Given the description of an element on the screen output the (x, y) to click on. 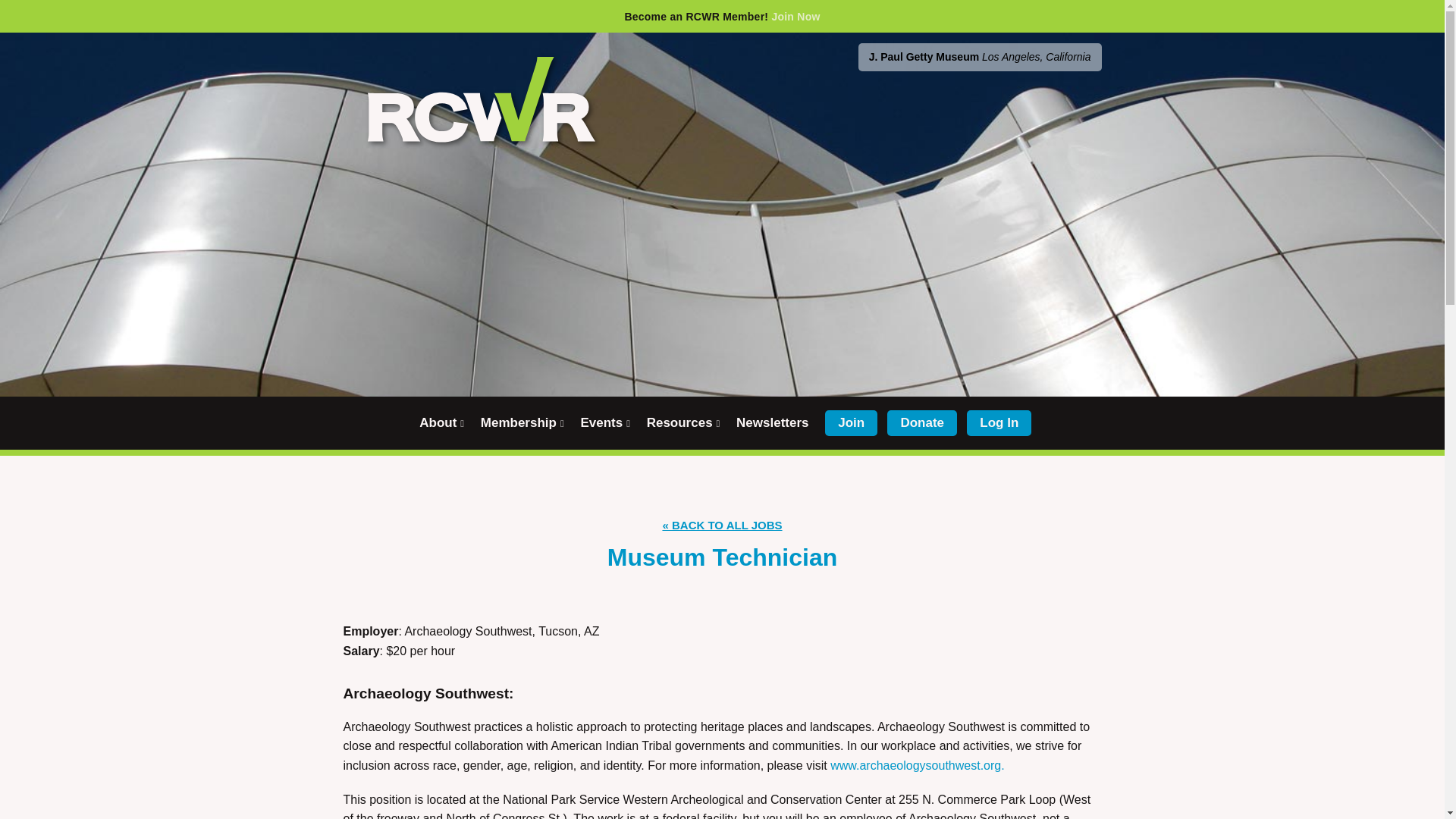
Membership (522, 422)
About (441, 422)
Join Now (795, 16)
